Given the description of an element on the screen output the (x, y) to click on. 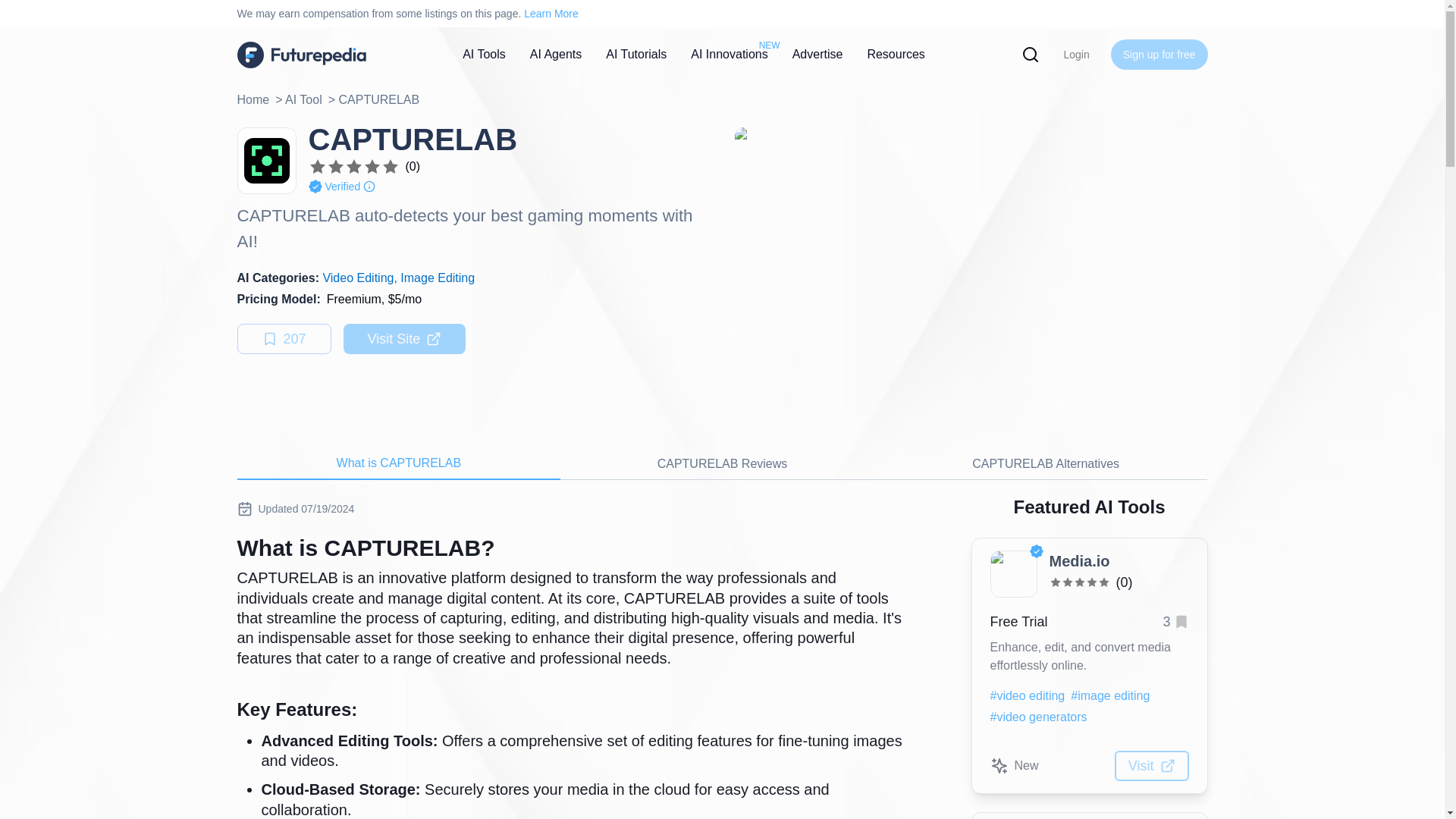
CAPTURELAB Reviews (721, 463)
Home (252, 99)
Login (1075, 54)
Search (8, 9)
Home (300, 53)
Sign up for free (1159, 54)
CAPTURELAB Alternatives (1045, 463)
207 (282, 338)
AI Tutorials (635, 54)
What is CAPTURELAB (397, 463)
Learn More (551, 13)
Resources (895, 53)
Visit Site (404, 338)
AI Tools (484, 54)
Video Editing (357, 277)
